Given the description of an element on the screen output the (x, y) to click on. 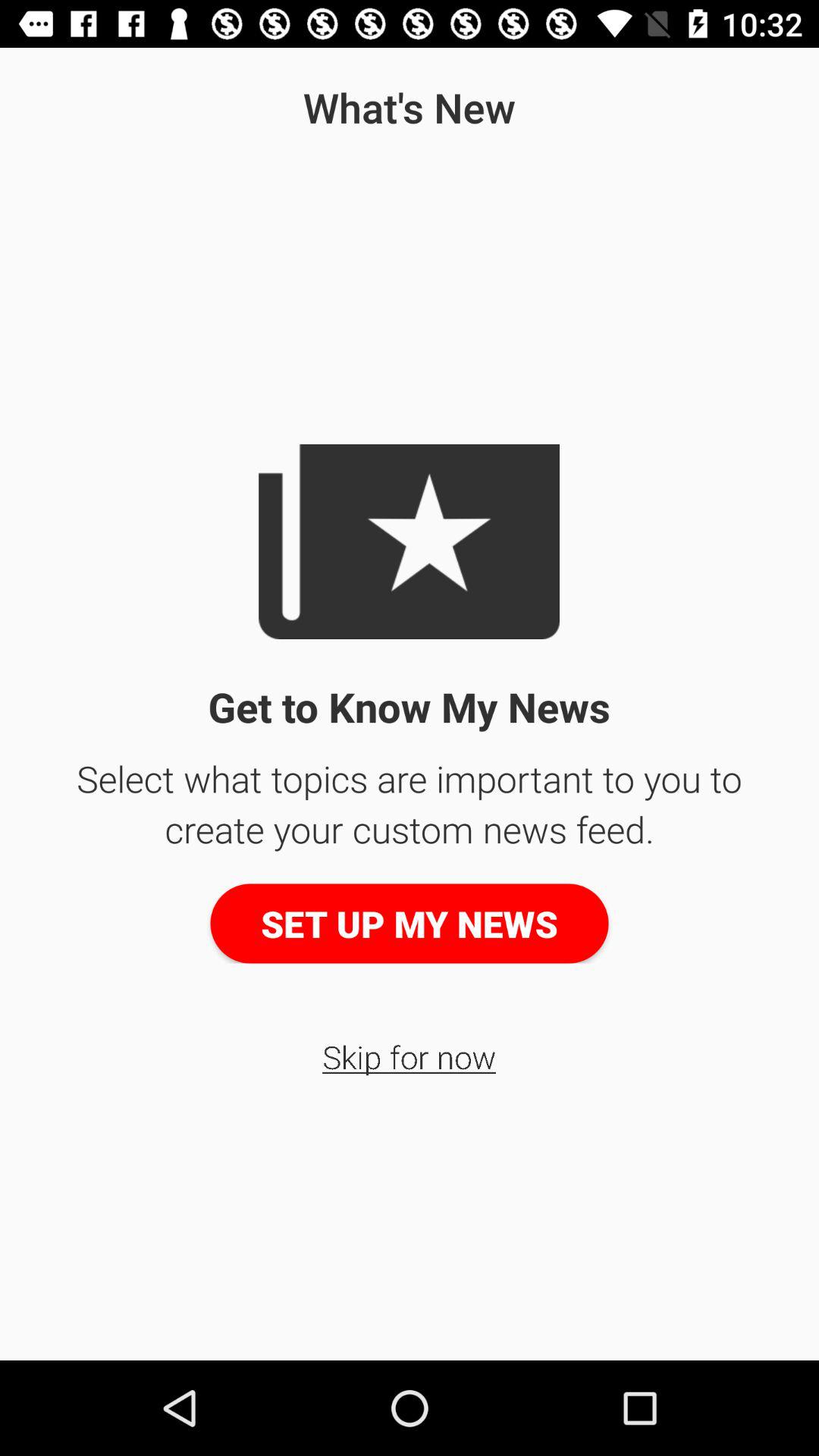
launch set up my item (409, 923)
